Given the description of an element on the screen output the (x, y) to click on. 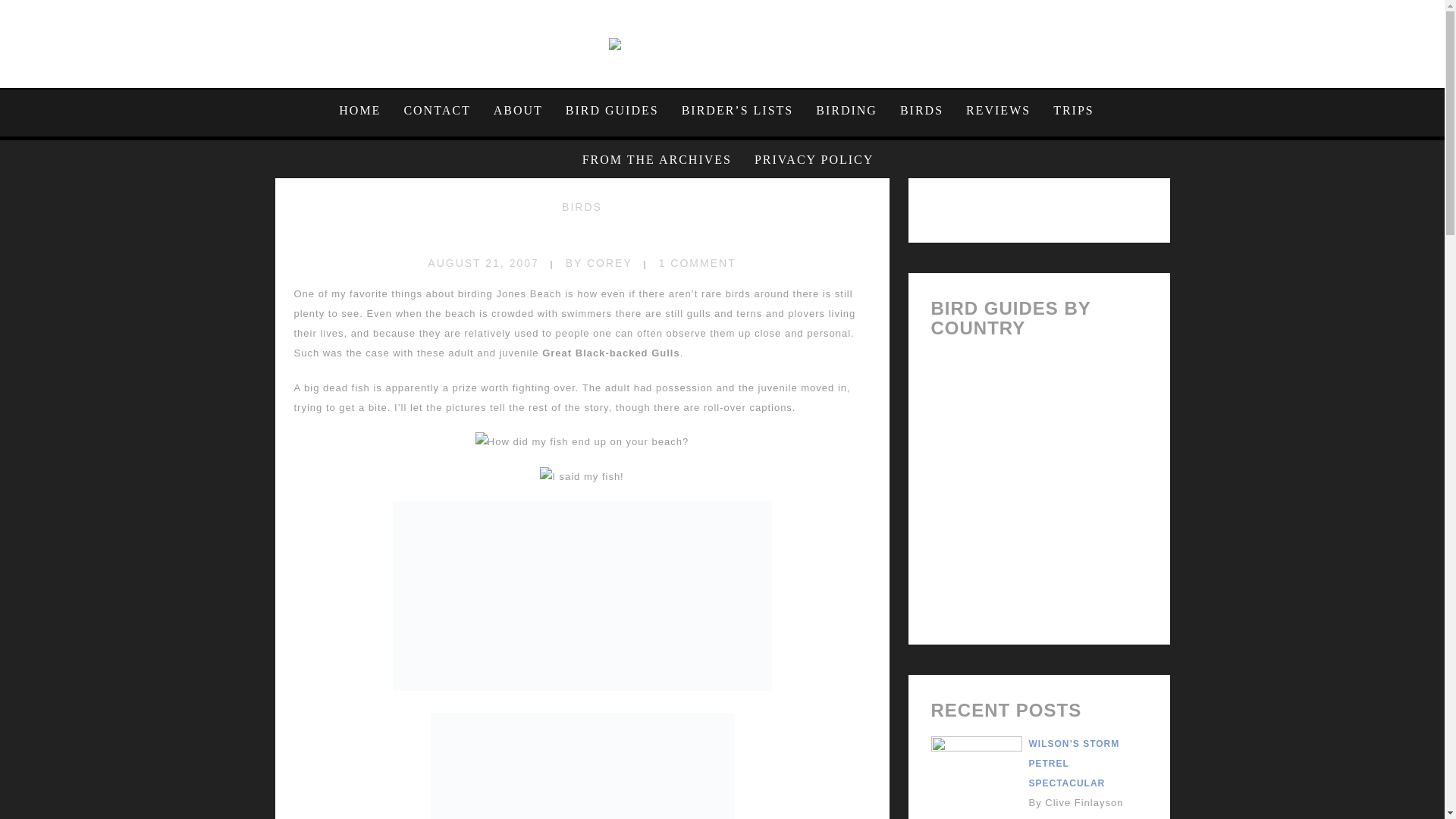
1 COMMENT (697, 263)
Get away from my fish! (581, 765)
AUGUST 21, 2007 (483, 263)
FROM THE ARCHIVES (656, 159)
BIRD GUIDES (611, 110)
ABOUT (517, 110)
BIRDS (582, 206)
PRIVACY POLICY (807, 159)
Permanent (581, 235)
You just don't listen do you? (582, 596)
